Given the description of an element on the screen output the (x, y) to click on. 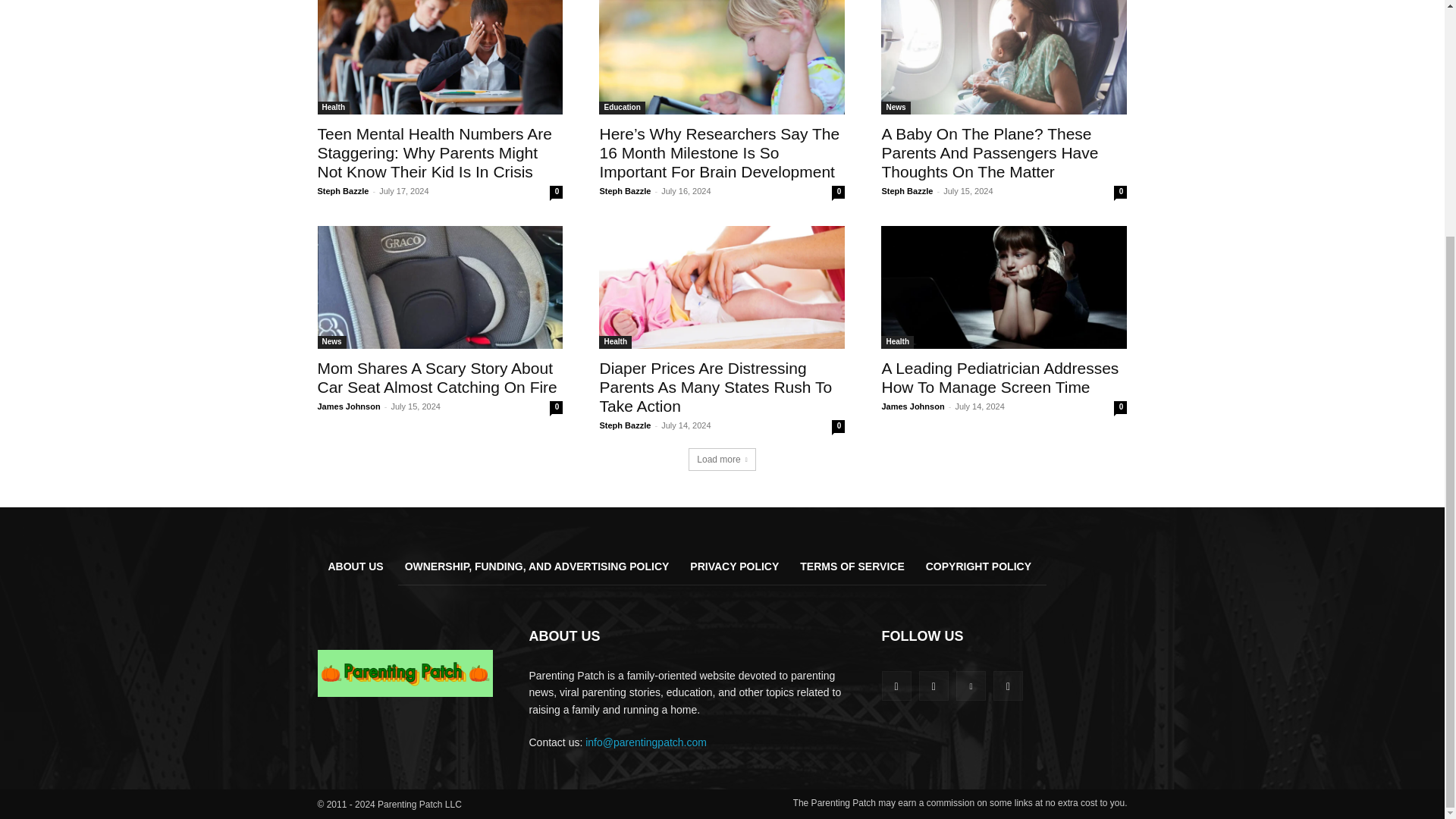
Steph Bazzle (342, 190)
News (895, 107)
Steph Bazzle (624, 190)
Health (333, 107)
Steph Bazzle (906, 190)
0 (1119, 192)
0 (556, 192)
Education (621, 107)
